Given the description of an element on the screen output the (x, y) to click on. 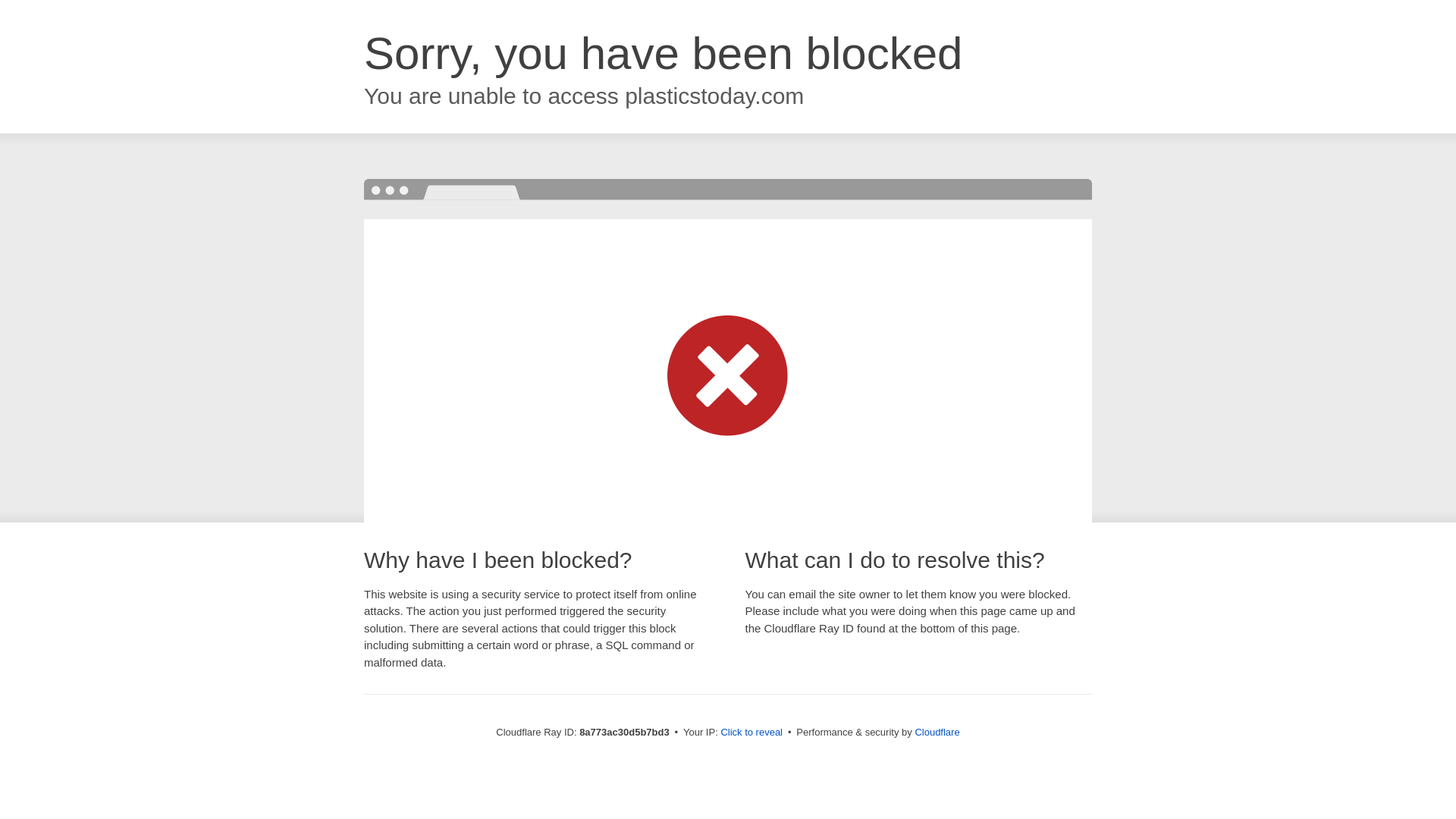
Cloudflare (936, 731)
Click to reveal (751, 732)
